Given the description of an element on the screen output the (x, y) to click on. 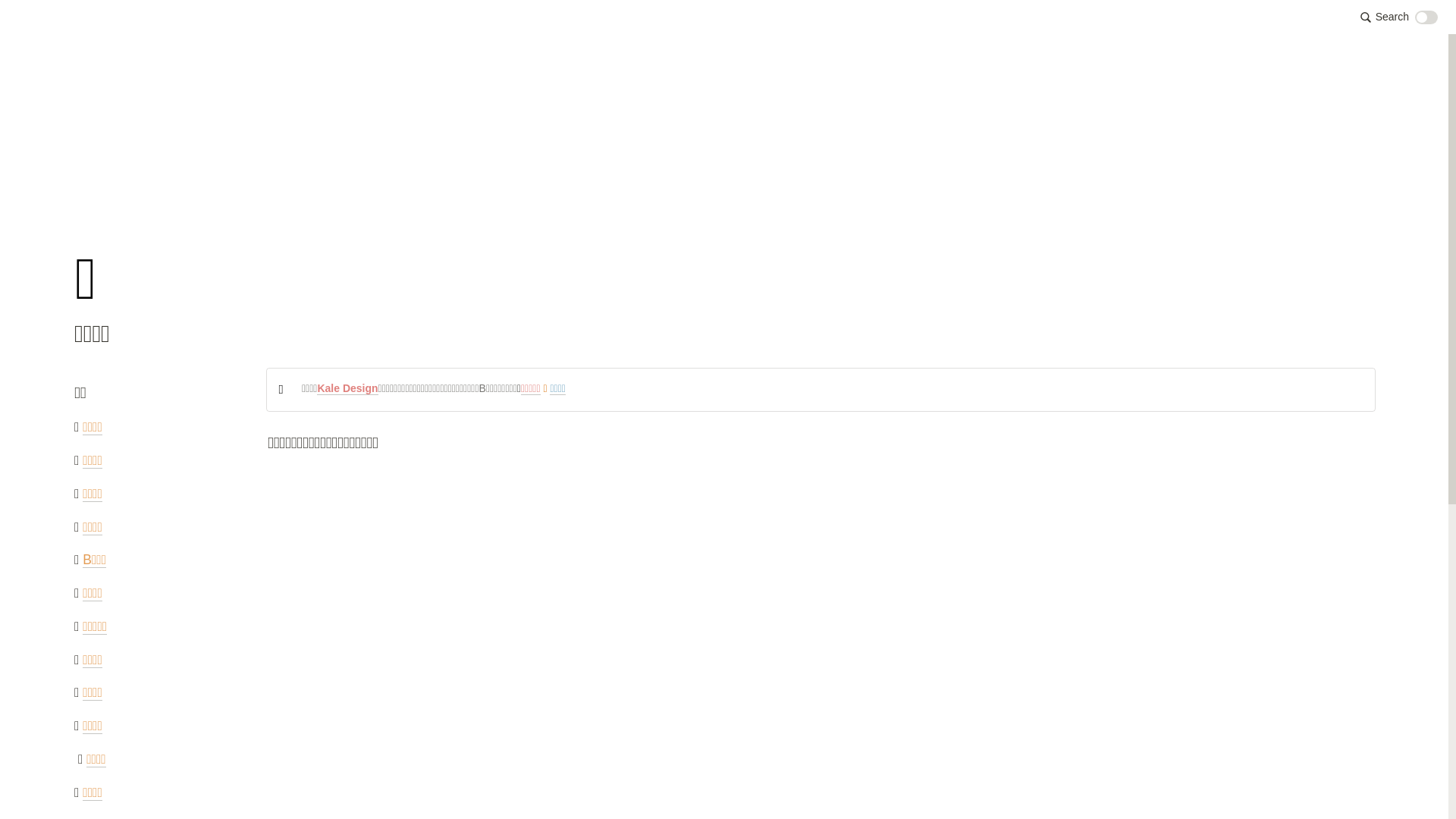
Change to Dark Mode Element type: hover (1426, 17)
Kale Design Element type: text (346, 388)
